Given the description of an element on the screen output the (x, y) to click on. 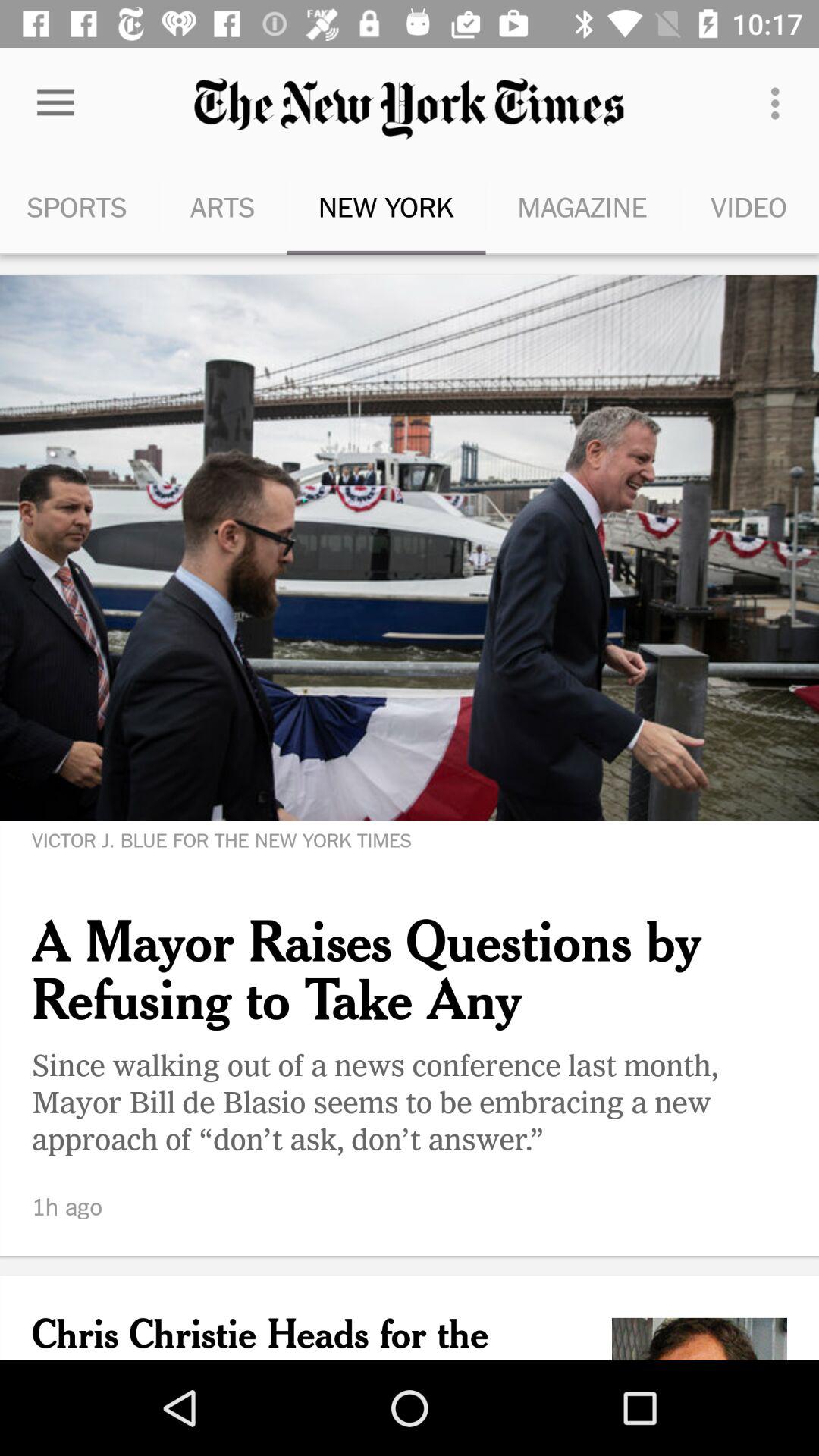
turn off the sports icon (79, 206)
